Given the description of an element on the screen output the (x, y) to click on. 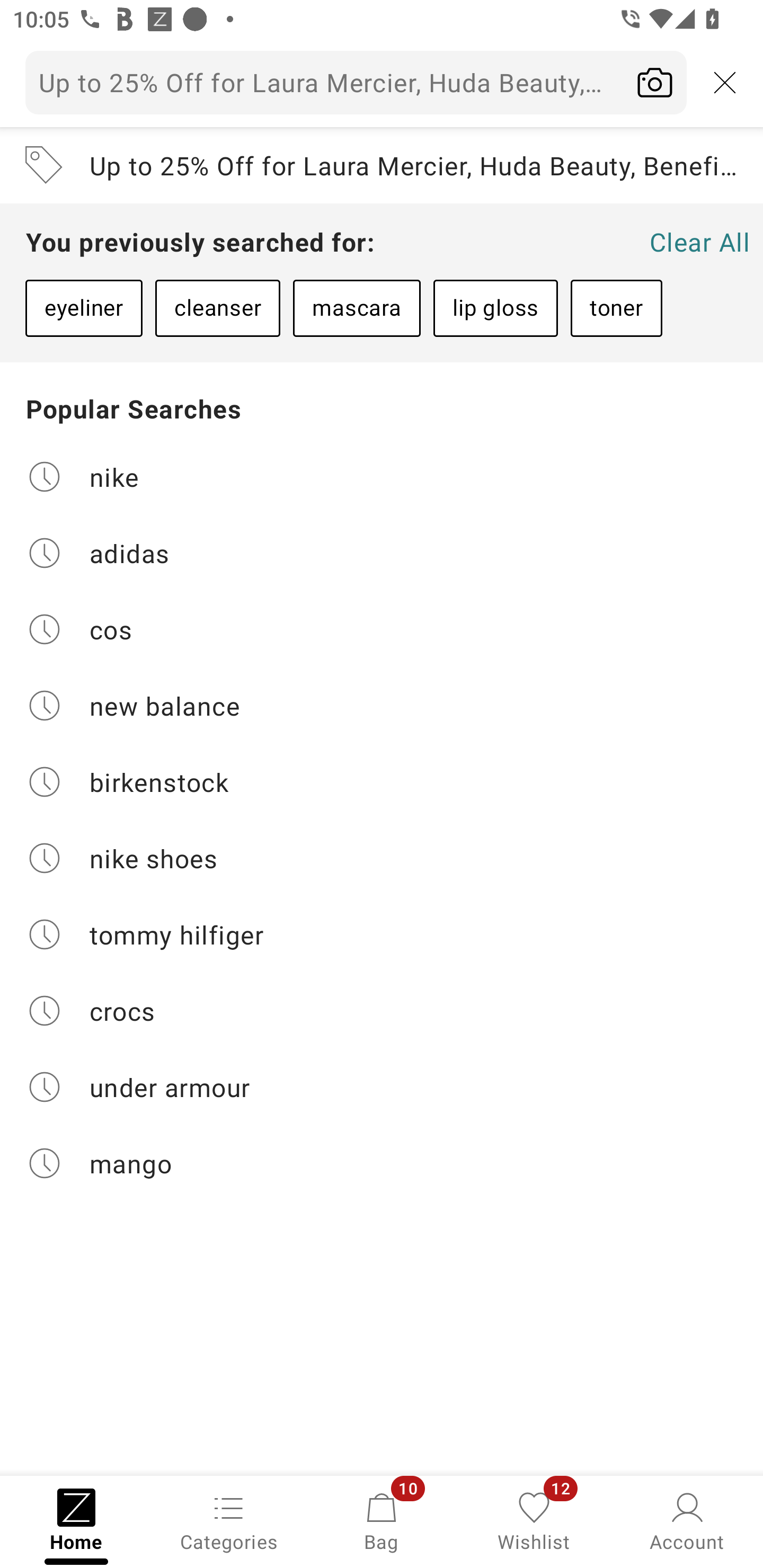
Clear All (699, 241)
eyeliner (83, 308)
cleanser (217, 308)
mascara (356, 308)
lip gloss (495, 308)
toner (616, 308)
nike (381, 476)
adidas (381, 552)
cos (381, 629)
new balance (381, 705)
birkenstock (381, 781)
nike shoes (381, 858)
tommy hilfiger (381, 934)
crocs (381, 1010)
under armour (381, 1086)
mango (381, 1163)
Categories (228, 1519)
Bag, 10 new notifications Bag (381, 1519)
Wishlist, 12 new notifications Wishlist (533, 1519)
Account (686, 1519)
